Given the description of an element on the screen output the (x, y) to click on. 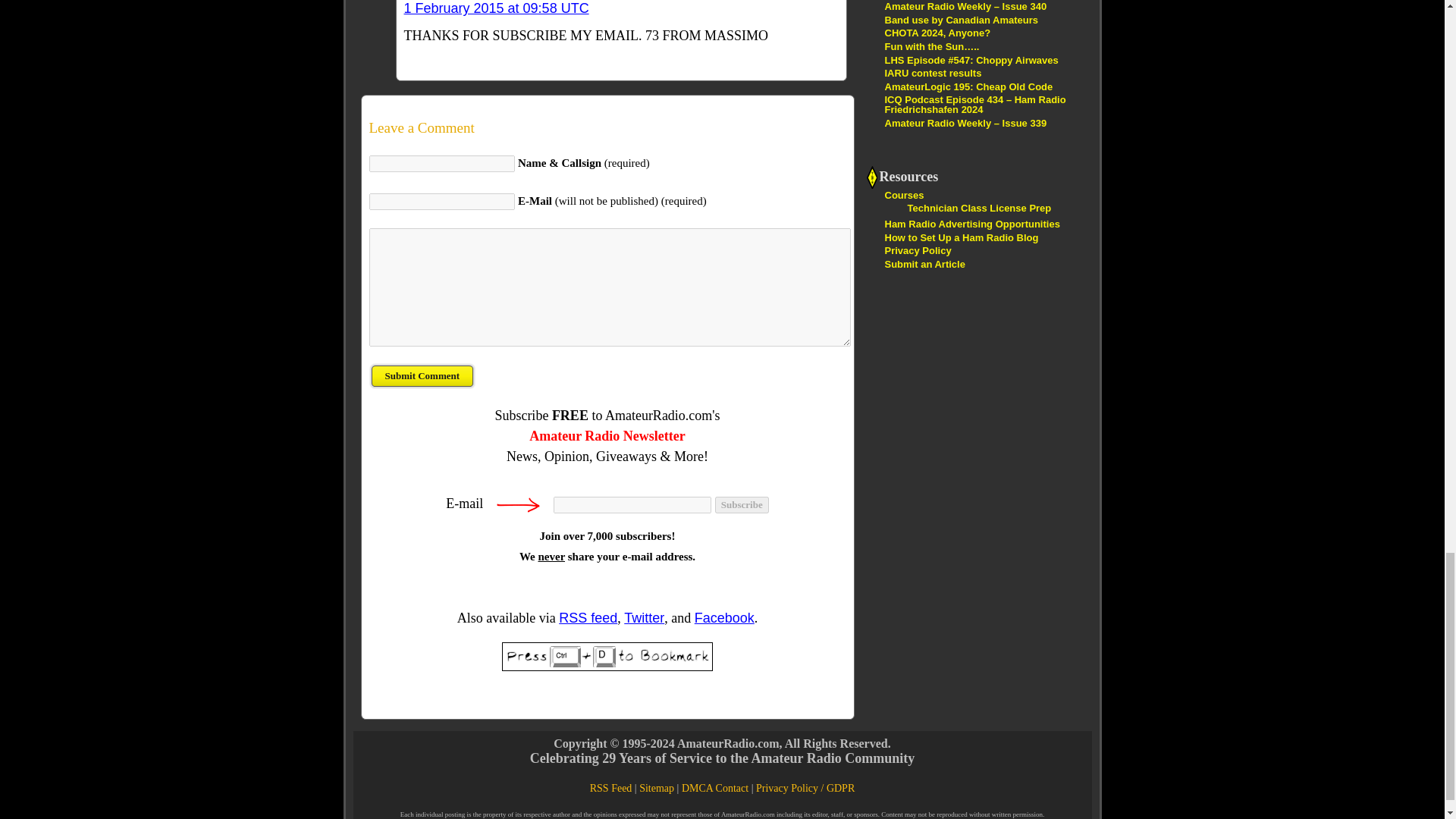
1 February 2015 at 09:58 UTC (495, 7)
Leave a Comment (606, 127)
Subscribe (741, 504)
Submit Comment (422, 376)
RSS feed (588, 617)
Submit Comment (422, 376)
Subscribe (741, 504)
Twitter (643, 617)
Facebook (724, 617)
